Given the description of an element on the screen output the (x, y) to click on. 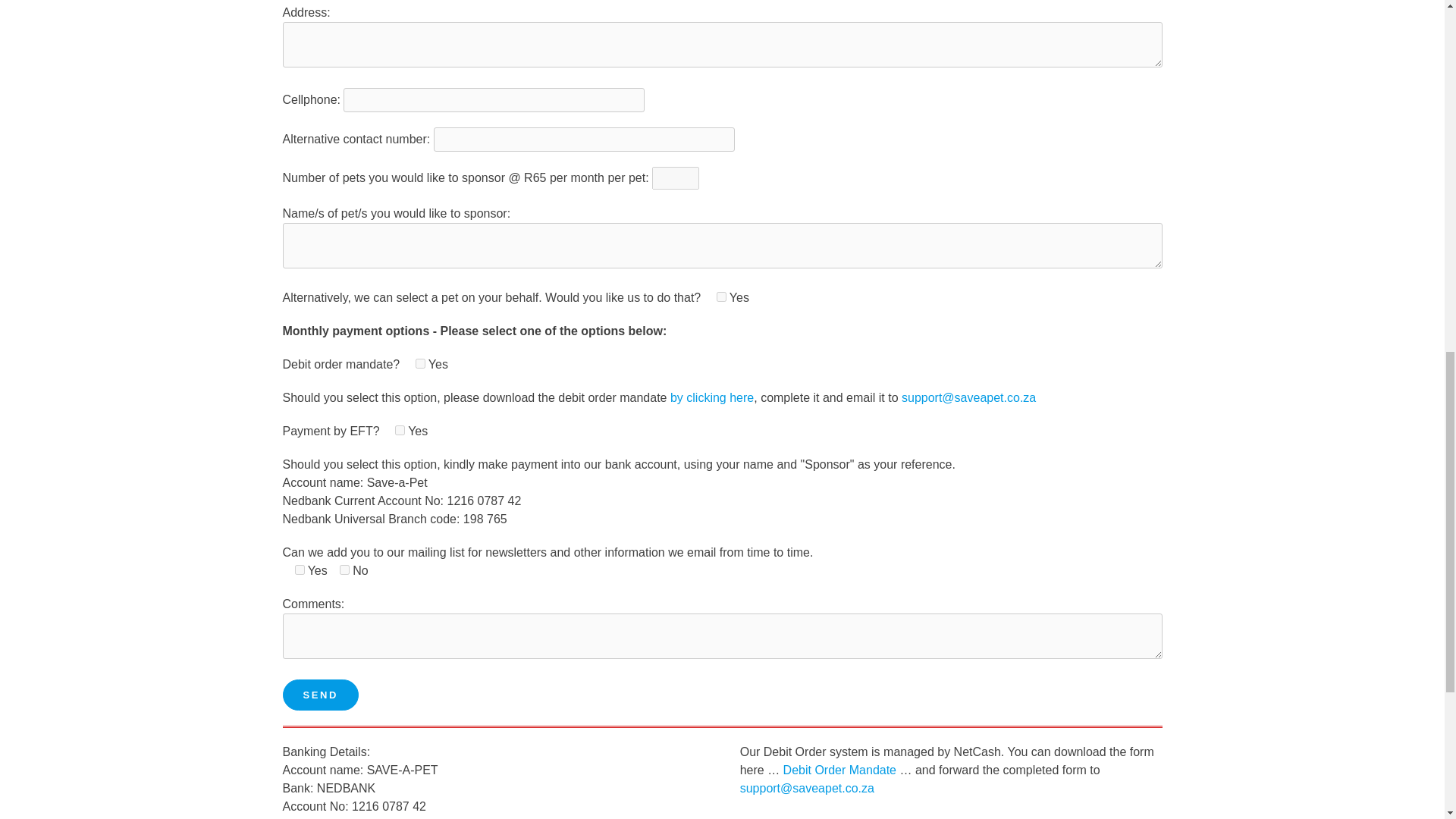
Save-a-Pet Debit Order Mandate (711, 397)
Send (320, 694)
Send (320, 694)
Yes (419, 363)
Debit Order Mandate (839, 769)
by clicking here (711, 397)
No (344, 569)
Yes (721, 296)
Yes (399, 429)
Yes (299, 569)
